Given the description of an element on the screen output the (x, y) to click on. 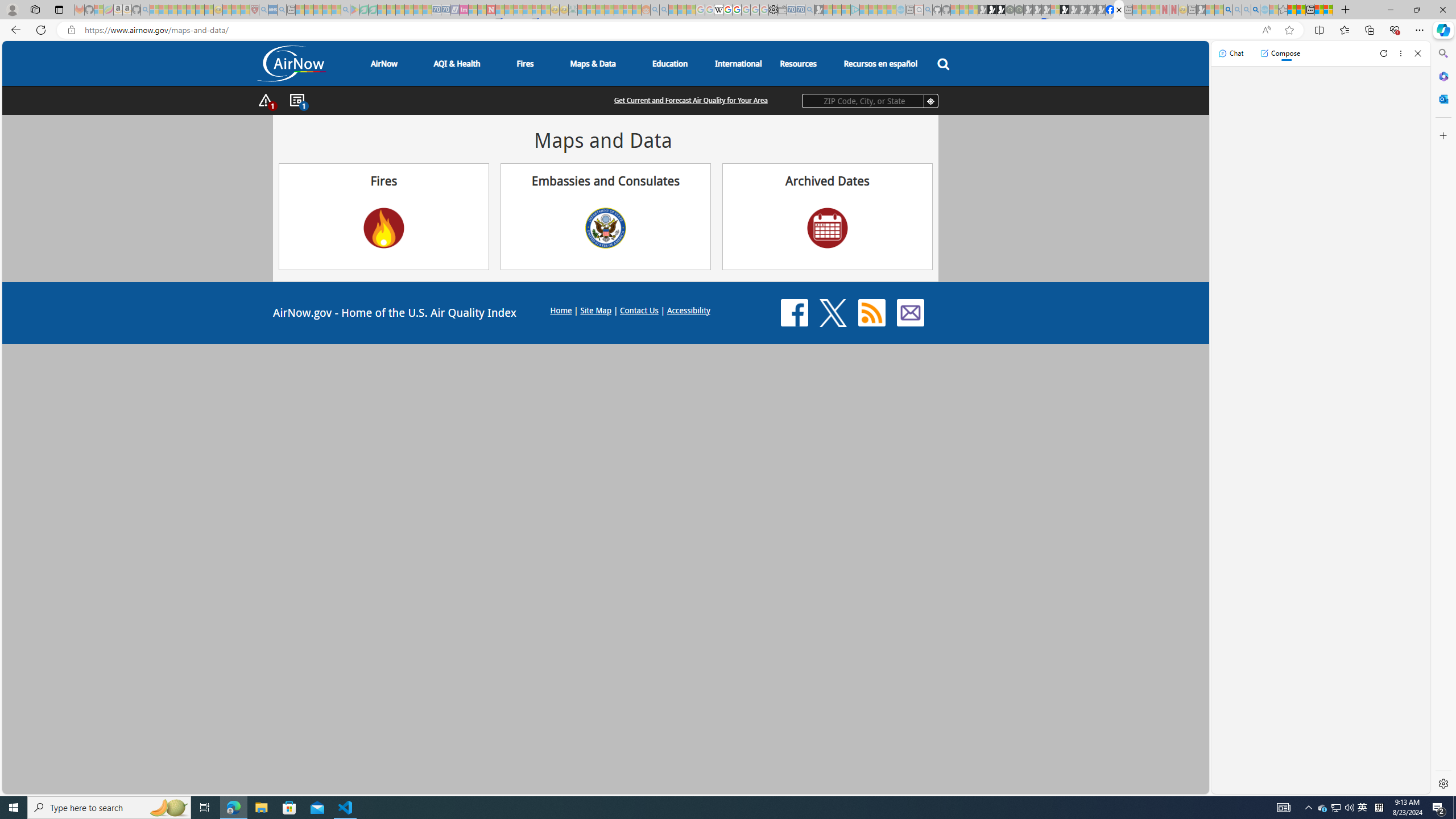
Class: main-link dropbtn-nav-link (880, 62)
Fire Icon (384, 227)
Contact Us  (910, 312)
US Department of State Seal (605, 227)
